Given the description of an element on the screen output the (x, y) to click on. 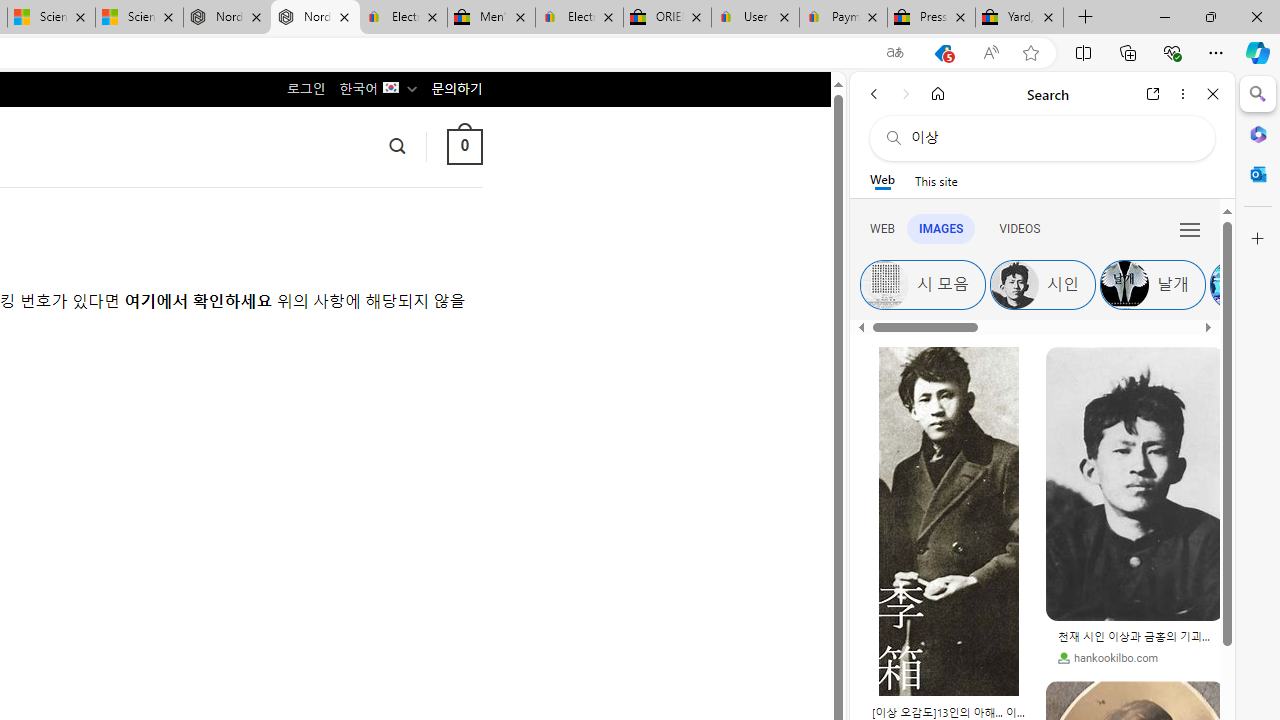
This site has coupons! Shopping in Microsoft Edge, 5 (943, 53)
  0   (464, 146)
hankookilbo.com (1108, 658)
WEB (882, 228)
hankookilbo.com (1135, 658)
